Given the description of an element on the screen output the (x, y) to click on. 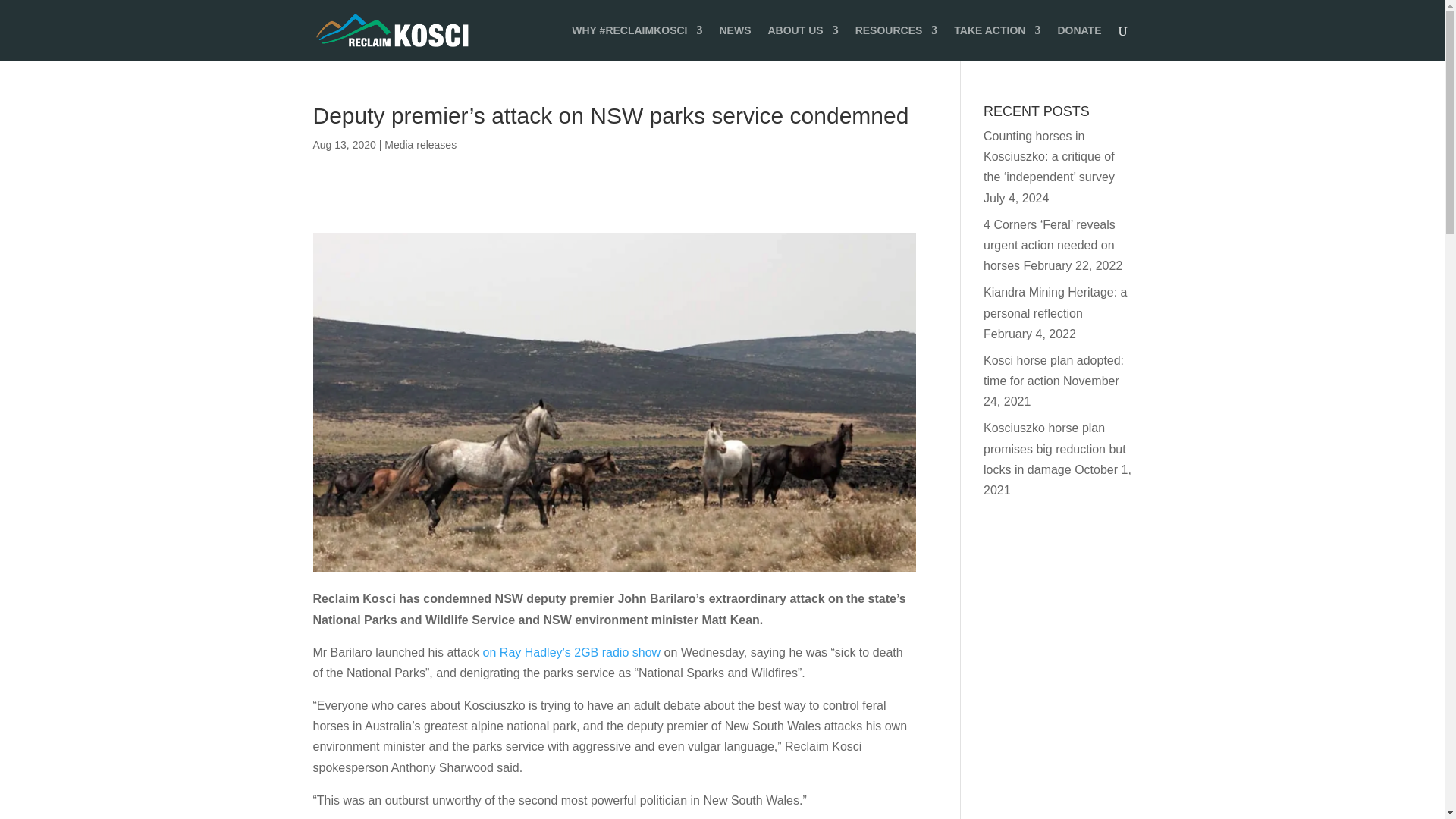
NEWS (735, 42)
DONATE (1078, 42)
RESOURCES (896, 42)
ABOUT US (802, 42)
TAKE ACTION (997, 42)
